Given the description of an element on the screen output the (x, y) to click on. 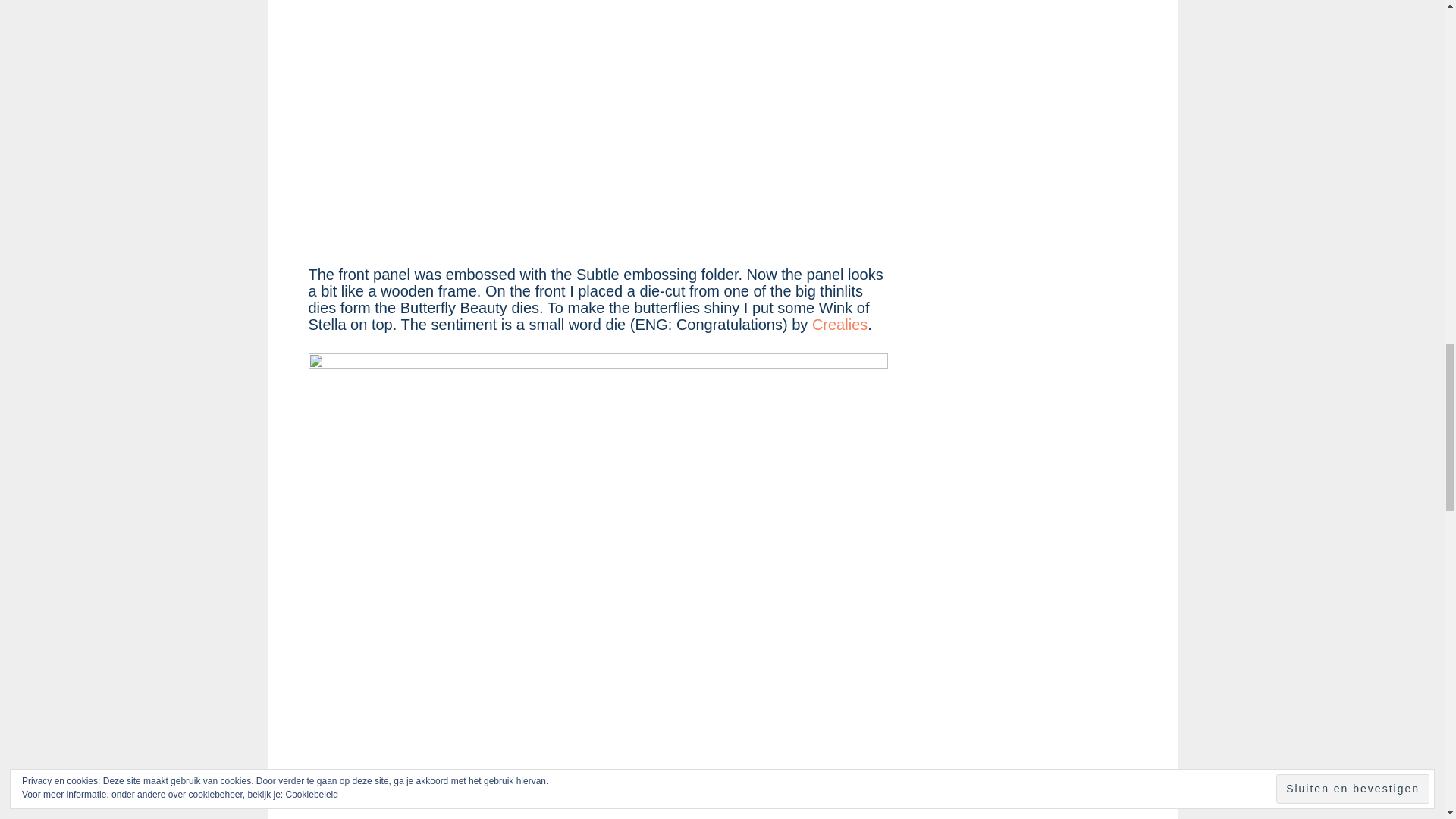
Crealies (839, 324)
